Given the description of an element on the screen output the (x, y) to click on. 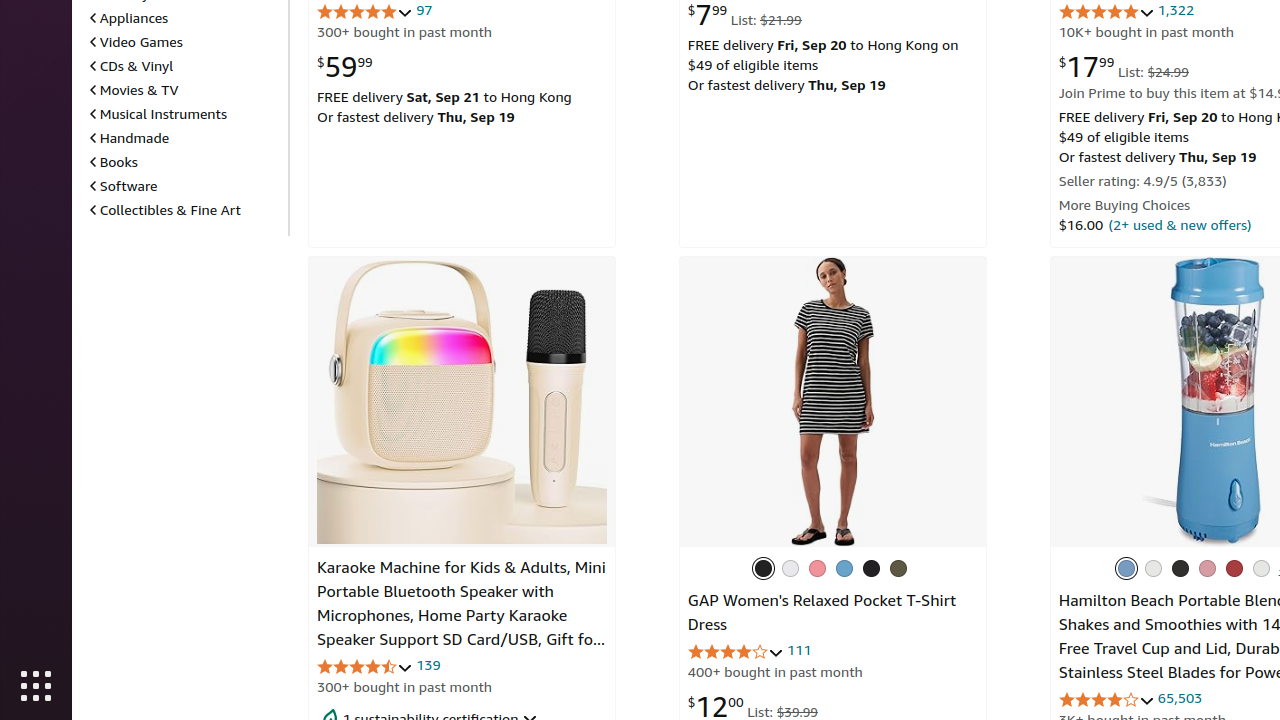
White Element type: push-button (1261, 568)
(2+ used & new offers) Element type: link (1180, 224)
GAP Women's Relaxed Pocket T-Shirt Dress Element type: link (832, 401)
Movies & TV Element type: link (134, 89)
Coral Frost Element type: push-button (817, 568)
